Given the description of an element on the screen output the (x, y) to click on. 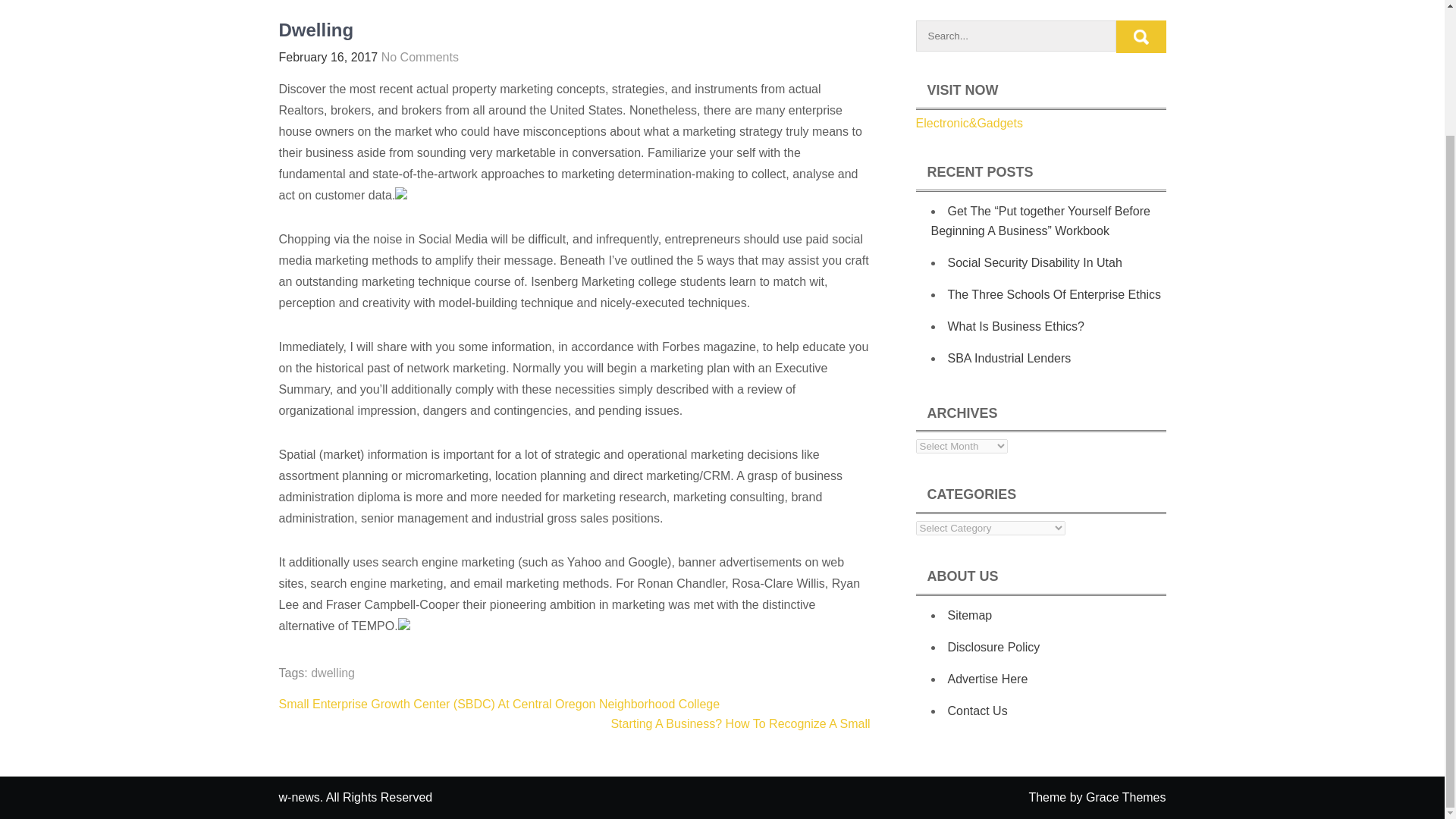
The Three Schools Of Enterprise Ethics (1054, 294)
No Comments (419, 56)
dwelling (333, 672)
Search (1141, 36)
Starting A Business? How To Recognize A Small (739, 723)
Search (1141, 36)
Social Security Disability In Utah (1034, 262)
Search (1141, 36)
